Given the description of an element on the screen output the (x, y) to click on. 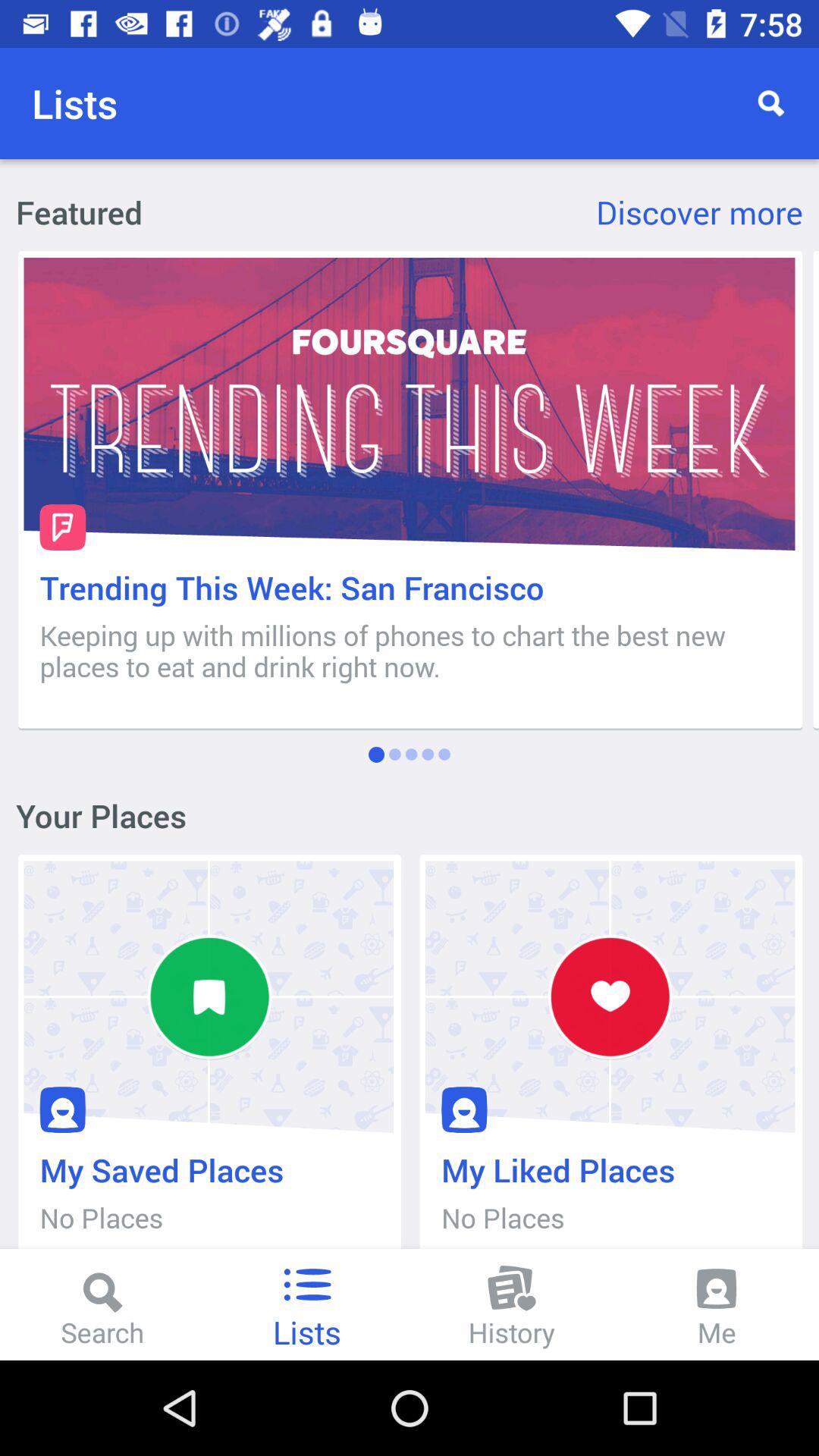
click on scroll bar (815, 489)
select the frame below the your places (208, 1060)
select the first icon under your places (207, 997)
